Given the description of an element on the screen output the (x, y) to click on. 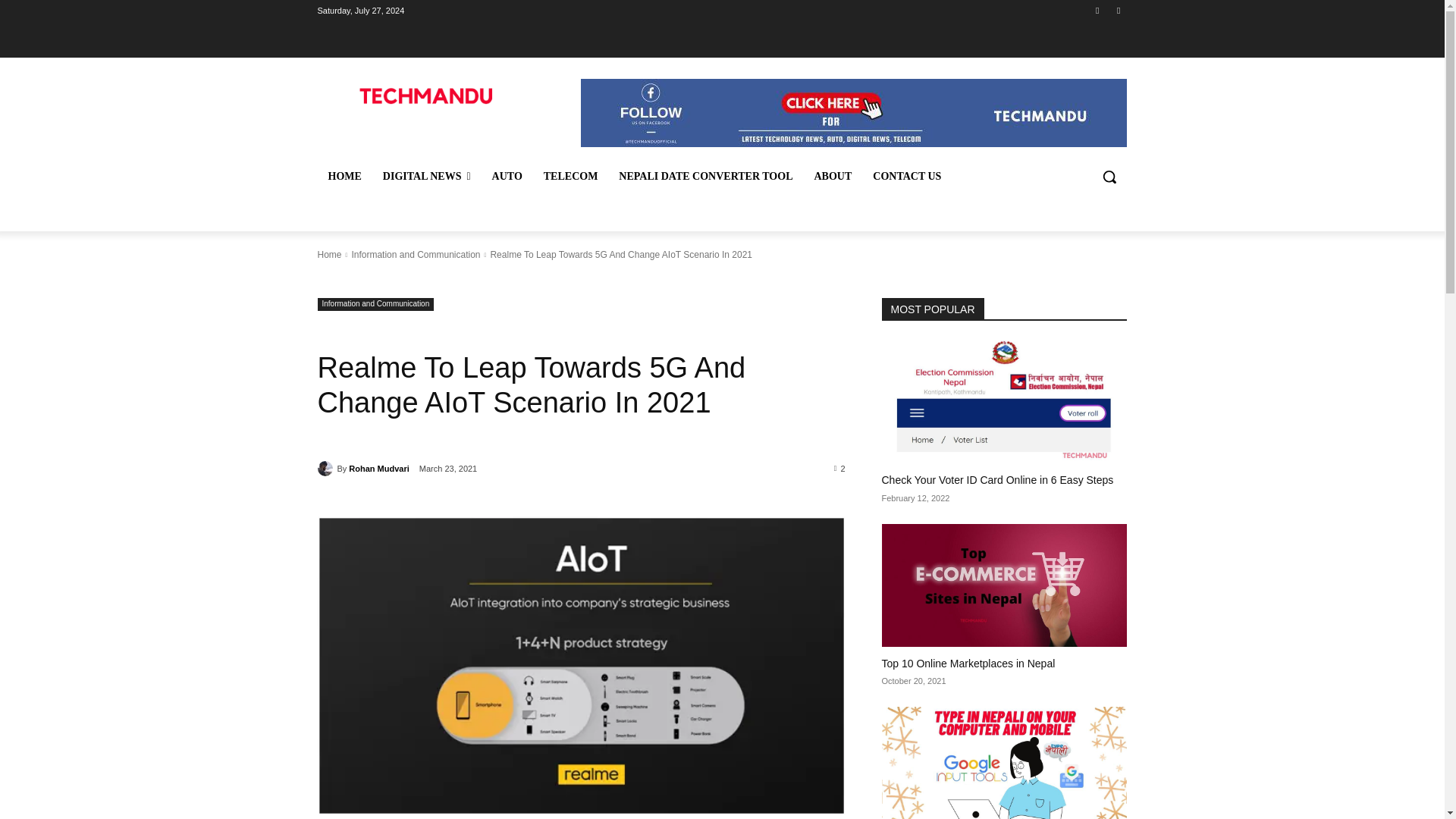
Rohan Mudvari (326, 468)
ABOUT (833, 176)
Facebook (1097, 9)
Check Your Voter ID Card Online in 6 Easy Steps (1003, 401)
DIGITAL NEWS (426, 176)
Twitter (1117, 9)
TELECOM (570, 176)
Latest Technology News and Information of Nepal (425, 96)
View all posts in Information and Communication (415, 254)
HOME (344, 176)
CONTACT US (906, 176)
AUTO (506, 176)
Latest Technology News and Information of Nepal (426, 96)
NEPALI DATE CONVERTER TOOL (705, 176)
